Given the description of an element on the screen output the (x, y) to click on. 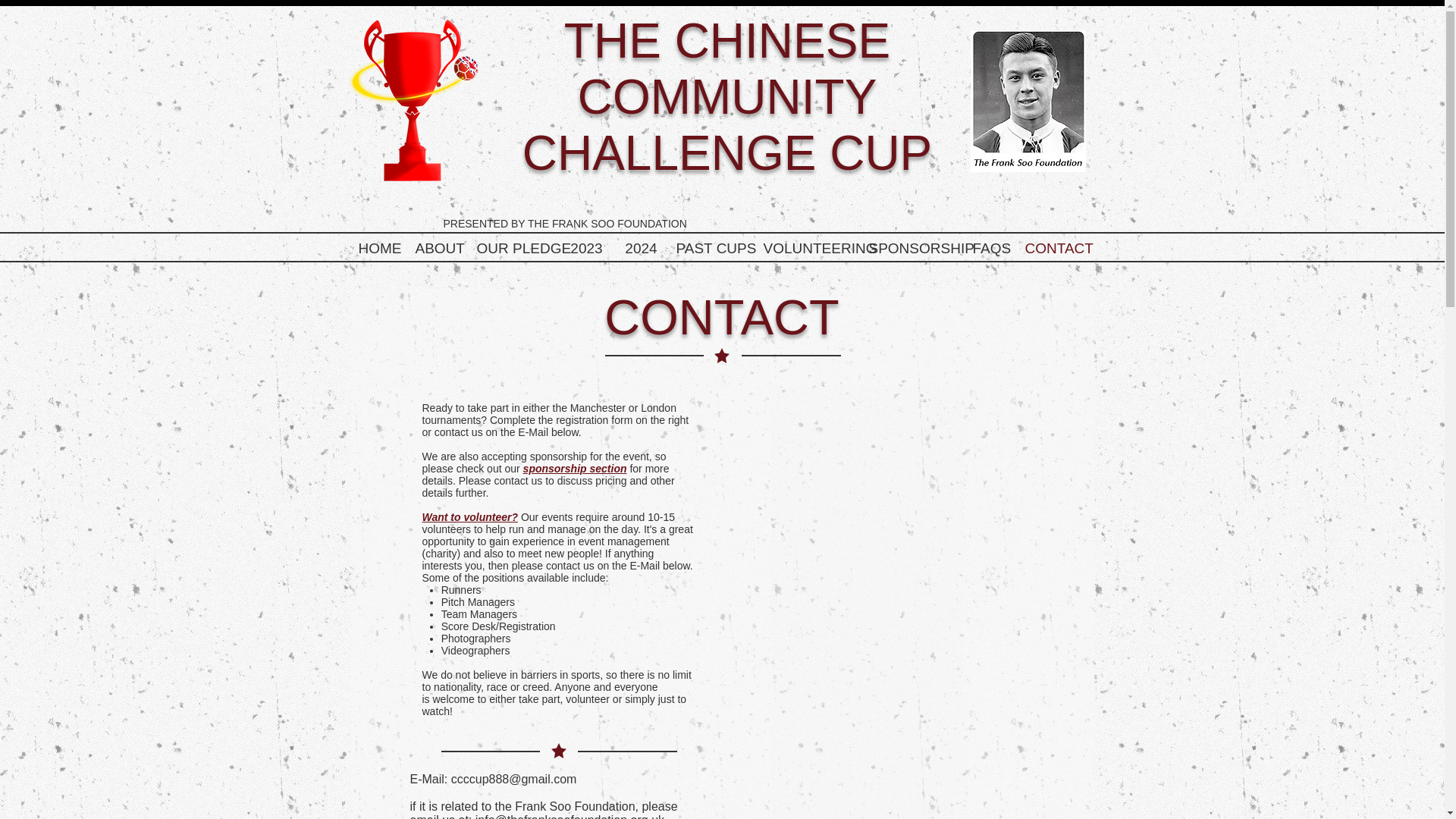
2023 (586, 248)
PAST CUPS (711, 248)
sponsorship section (574, 468)
SPONSORSHIP (913, 248)
HOME (378, 248)
OUR PLEDGE (513, 248)
ABOUT (437, 248)
2024 (641, 248)
THE CHINESE COMMUNITY CHALLENGE CUP (727, 96)
FAQS (989, 248)
